Given the description of an element on the screen output the (x, y) to click on. 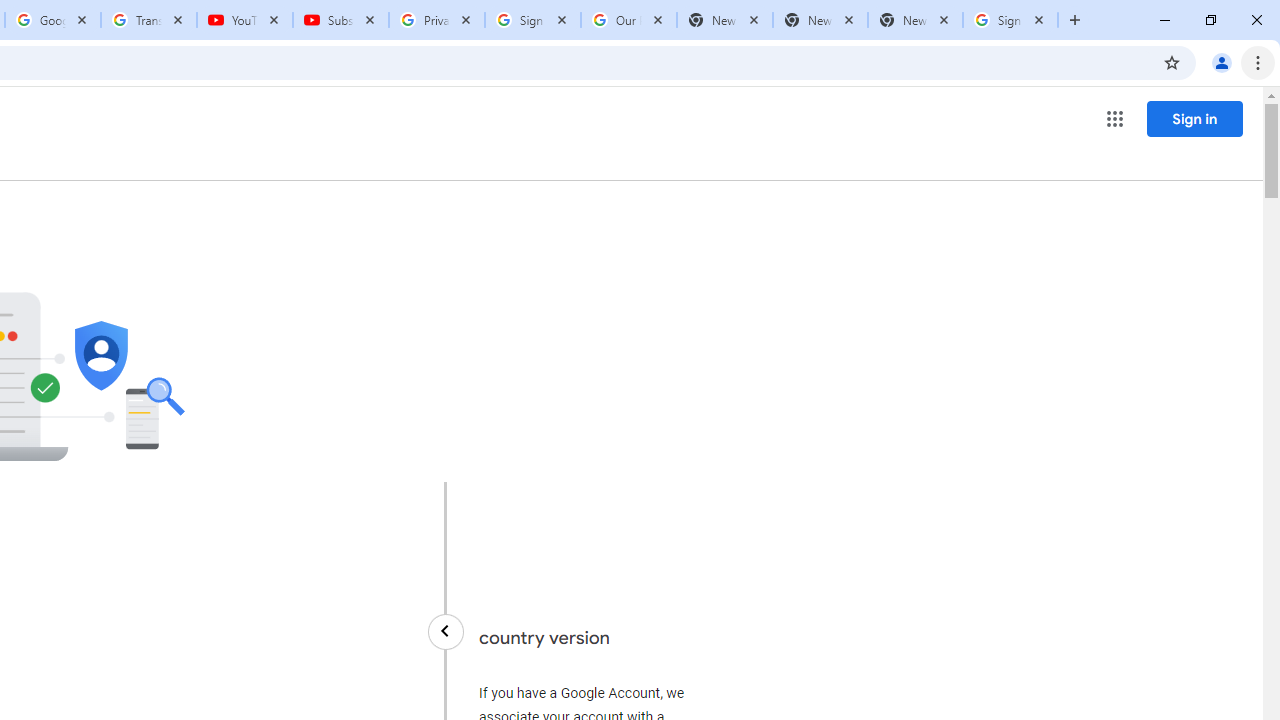
Subscriptions - YouTube (341, 20)
